Given the description of an element on the screen output the (x, y) to click on. 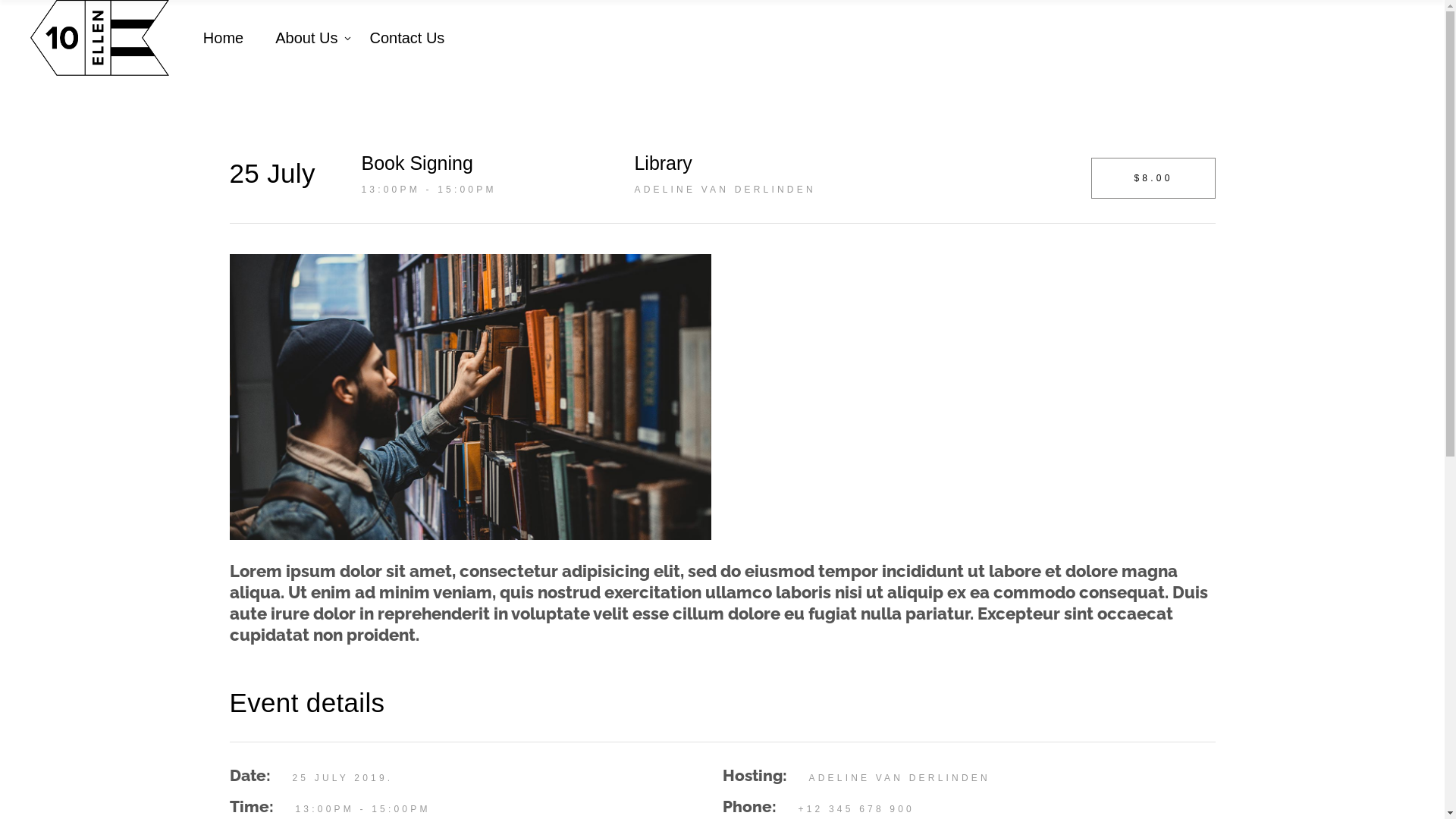
Home Element type: text (223, 37)
About Us Element type: text (306, 37)
+12 345 678 900 Element type: text (855, 808)
Contact Us Element type: text (406, 37)
